Given the description of an element on the screen output the (x, y) to click on. 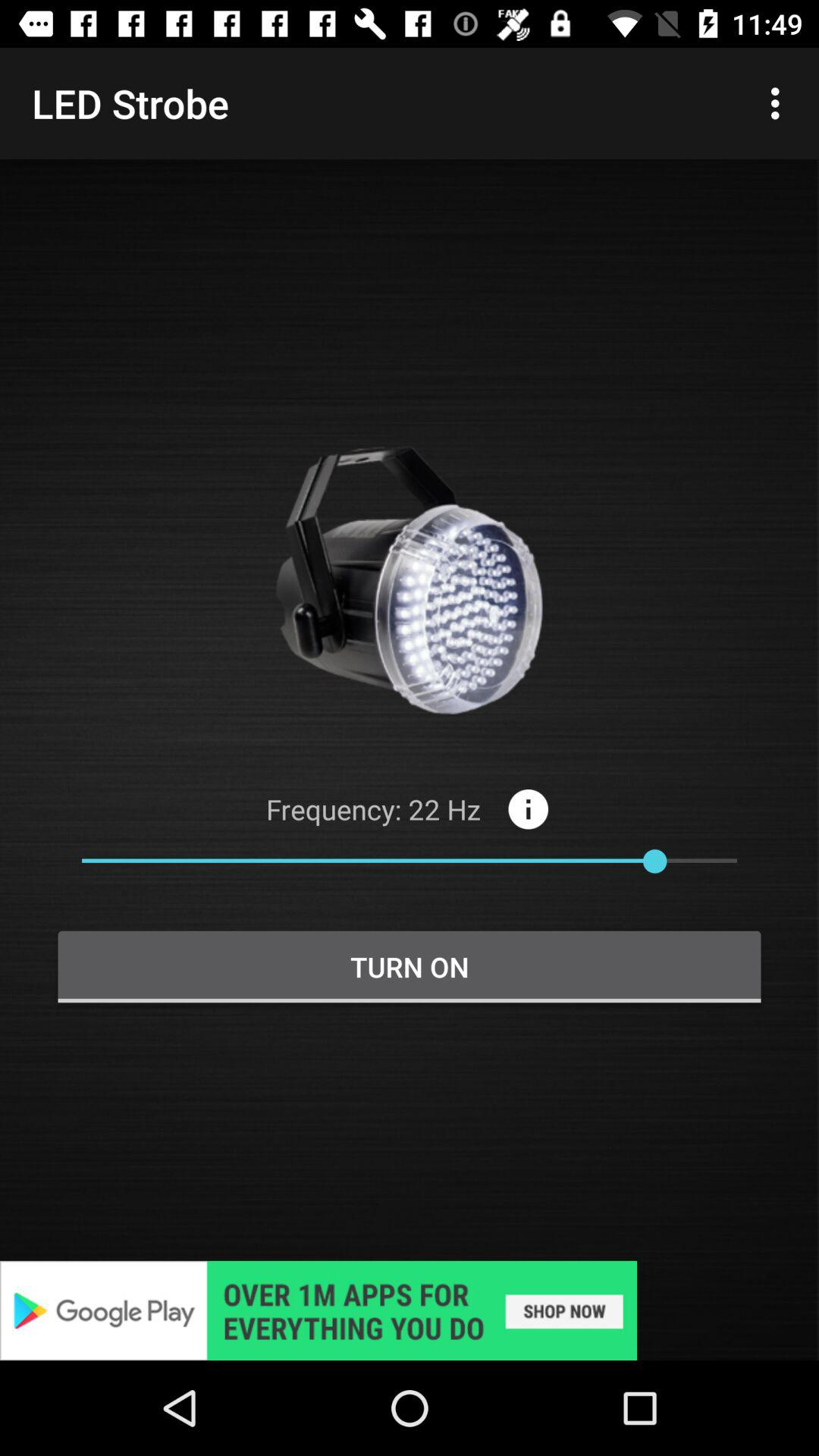
show more information (528, 809)
